Given the description of an element on the screen output the (x, y) to click on. 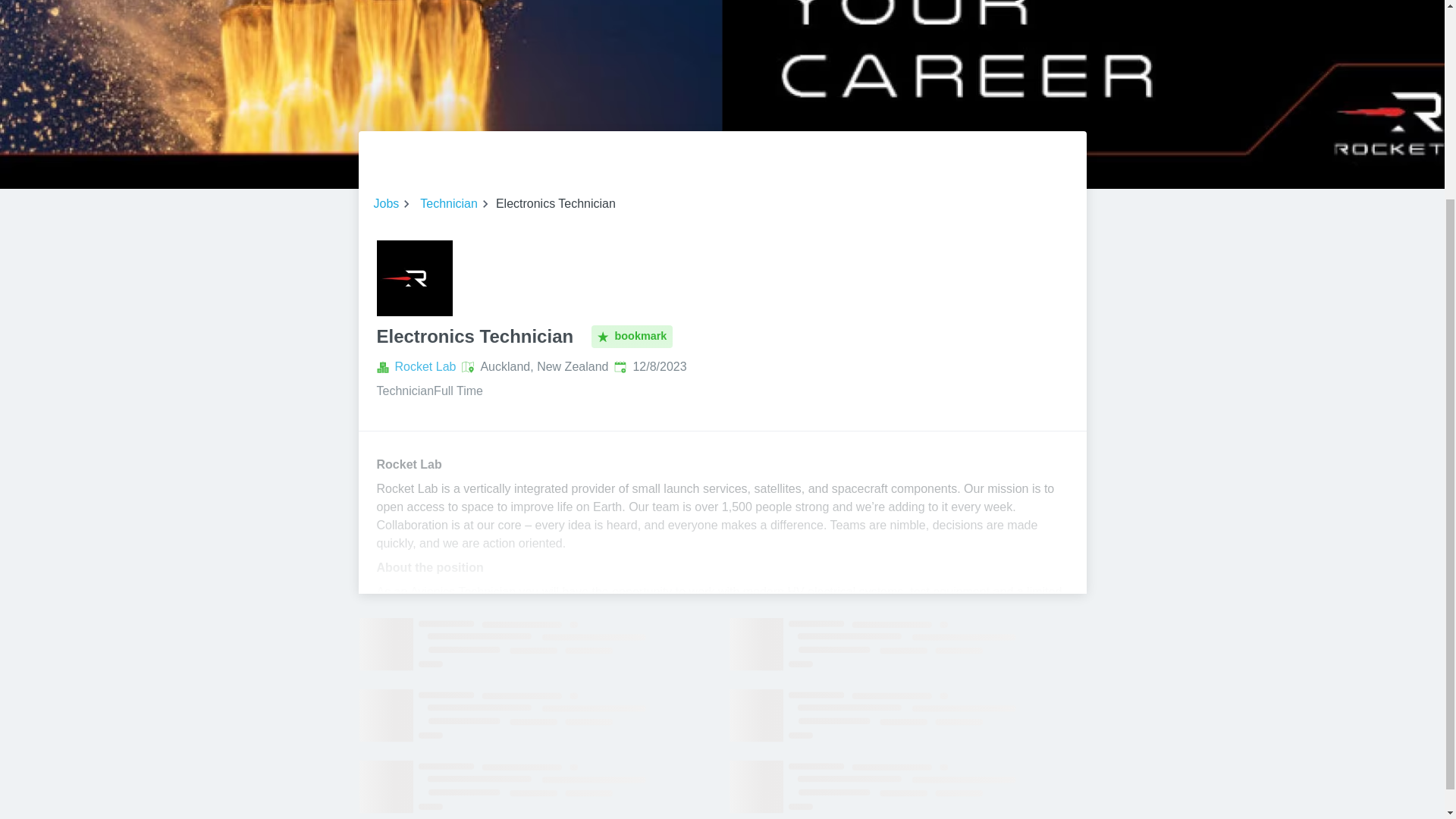
Loading interface... (907, 644)
Jobs (385, 203)
Loading interface... (537, 644)
Rocket Lab (424, 366)
Loading interface... (907, 715)
Loading interface... (537, 787)
bookmark (631, 336)
Loading interface... (907, 787)
Technician (448, 203)
Loading interface... (537, 715)
Electronics Technician (413, 278)
bookmark (631, 336)
